Given the description of an element on the screen output the (x, y) to click on. 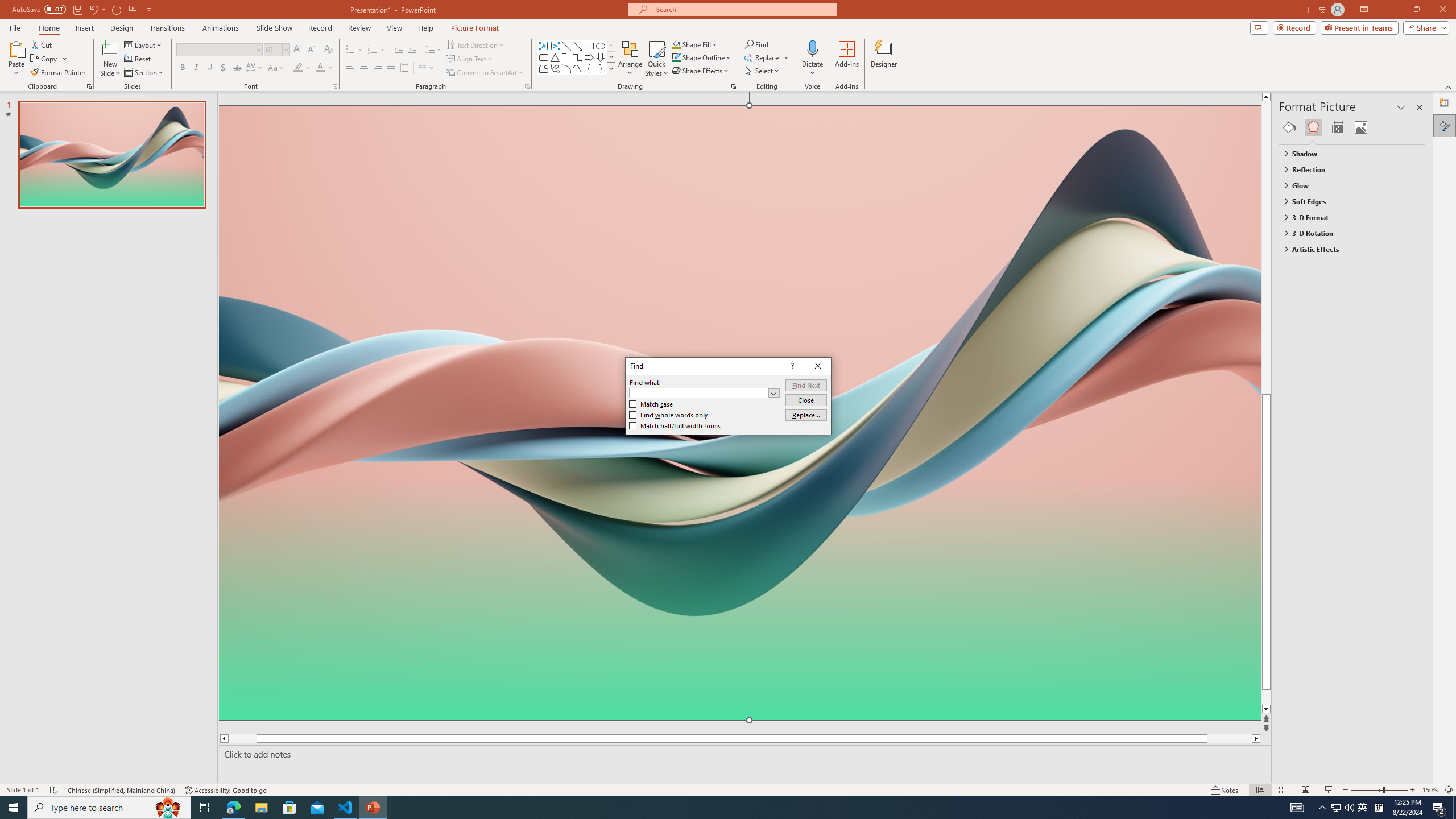
Find whole words only (668, 414)
Oval (600, 45)
Size & Properties (1336, 126)
Arrange (630, 58)
Zoom In (1412, 790)
Effects (1313, 126)
Task View (204, 807)
Context help (791, 366)
Text Direction (476, 44)
Dictate (812, 58)
Class: MsoCommandBar (728, 789)
Font... (334, 85)
Arc (566, 68)
File Explorer (261, 807)
